Given the description of an element on the screen output the (x, y) to click on. 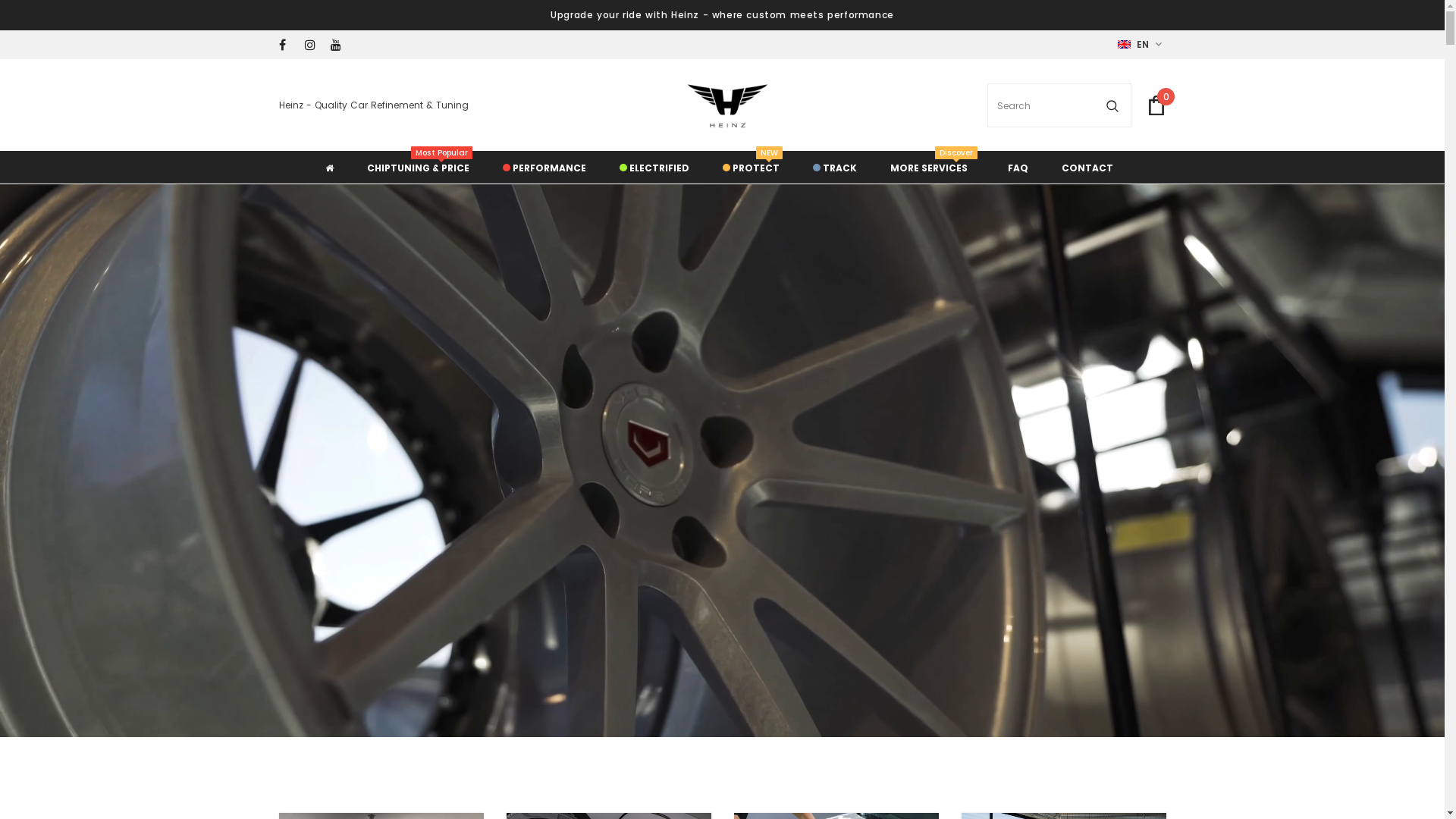
FAQ Element type: text (1017, 166)
ELECTRIFIED Element type: text (653, 166)
PERFORMANCE Element type: text (543, 166)
Facebook Element type: hover (288, 44)
CHIPTUNING & PRICE
Most Popular Element type: text (418, 166)
TRACK Element type: text (834, 166)
YouTube Element type: hover (339, 44)
Instagram Element type: hover (313, 44)
0 Element type: text (1156, 105)
Logo Element type: hover (727, 105)
PROTECT
NEW Element type: text (749, 166)
